Given the description of an element on the screen output the (x, y) to click on. 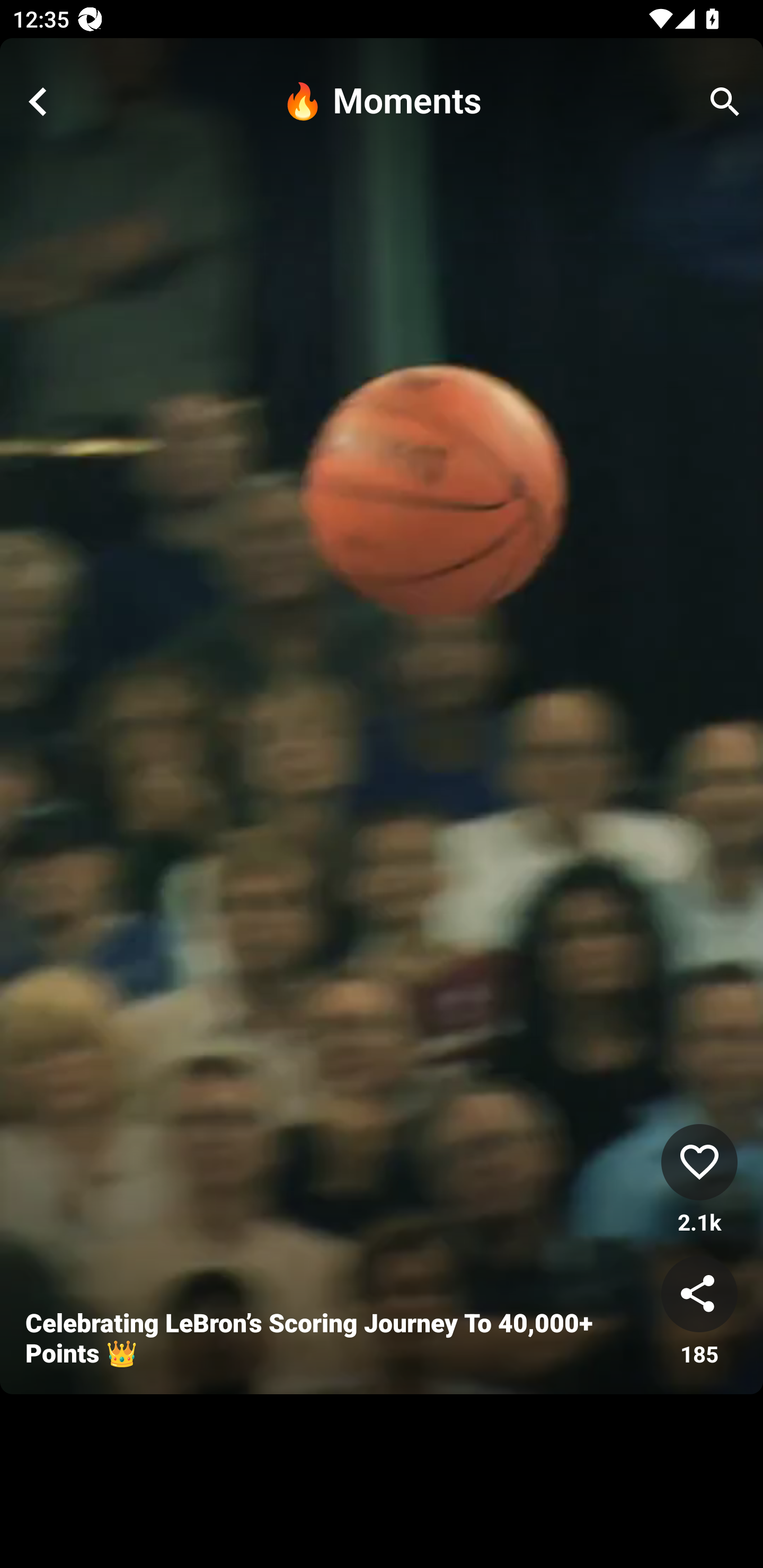
close (38, 101)
search (724, 101)
like 2.1k 2131 Likes (699, 1180)
share 185 185 Shares (699, 1311)
